Given the description of an element on the screen output the (x, y) to click on. 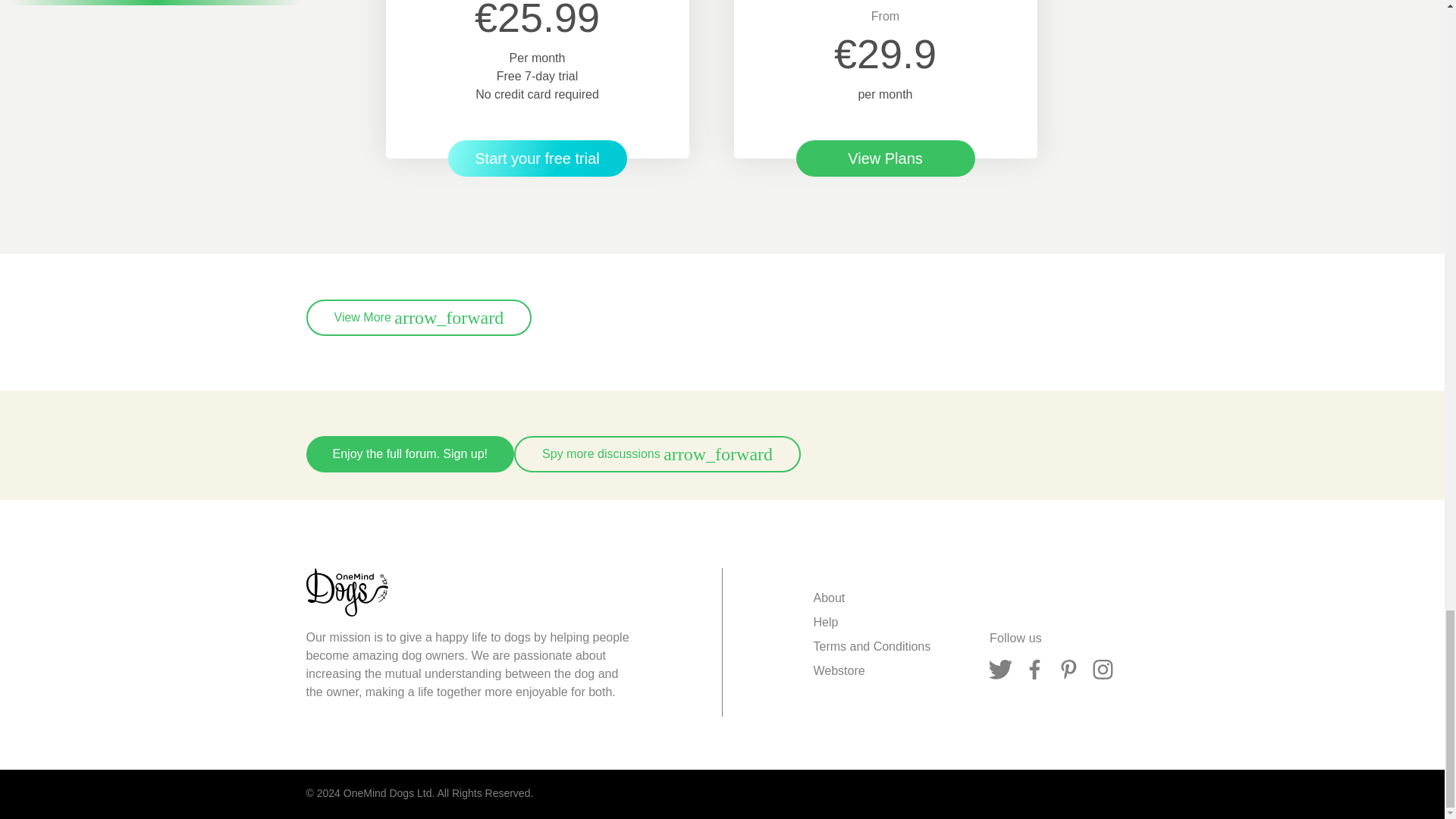
View Plans (885, 158)
Blog (418, 317)
Pinterest (1068, 669)
Twitter (1000, 669)
Forum (656, 453)
View Plans (885, 158)
About (828, 597)
webstore (838, 670)
Facebook (1034, 669)
Start your free trial (536, 158)
